Given the description of an element on the screen output the (x, y) to click on. 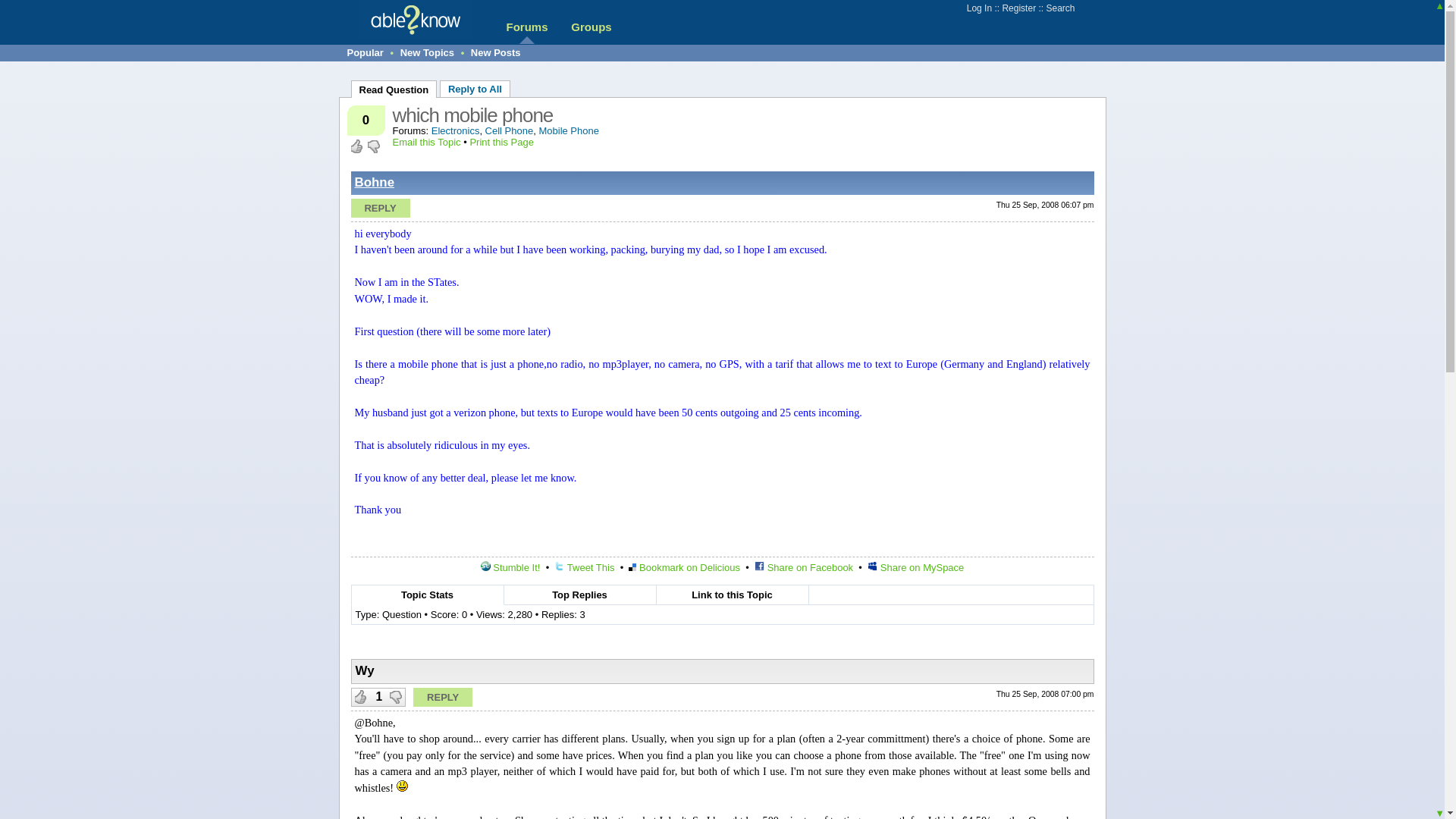
Cell Phone (509, 130)
Search (1059, 8)
View Profile (374, 182)
Groups (590, 26)
Bohne (374, 182)
Print this Page (501, 142)
Log In (978, 8)
Email this Topic (427, 142)
Reply to All (475, 88)
Tweet This (584, 567)
New Posts (495, 52)
Mobile Phone (568, 130)
Share on Facebook (803, 567)
Cell Phone Forum (509, 130)
Email this Topic (427, 142)
